Given the description of an element on the screen output the (x, y) to click on. 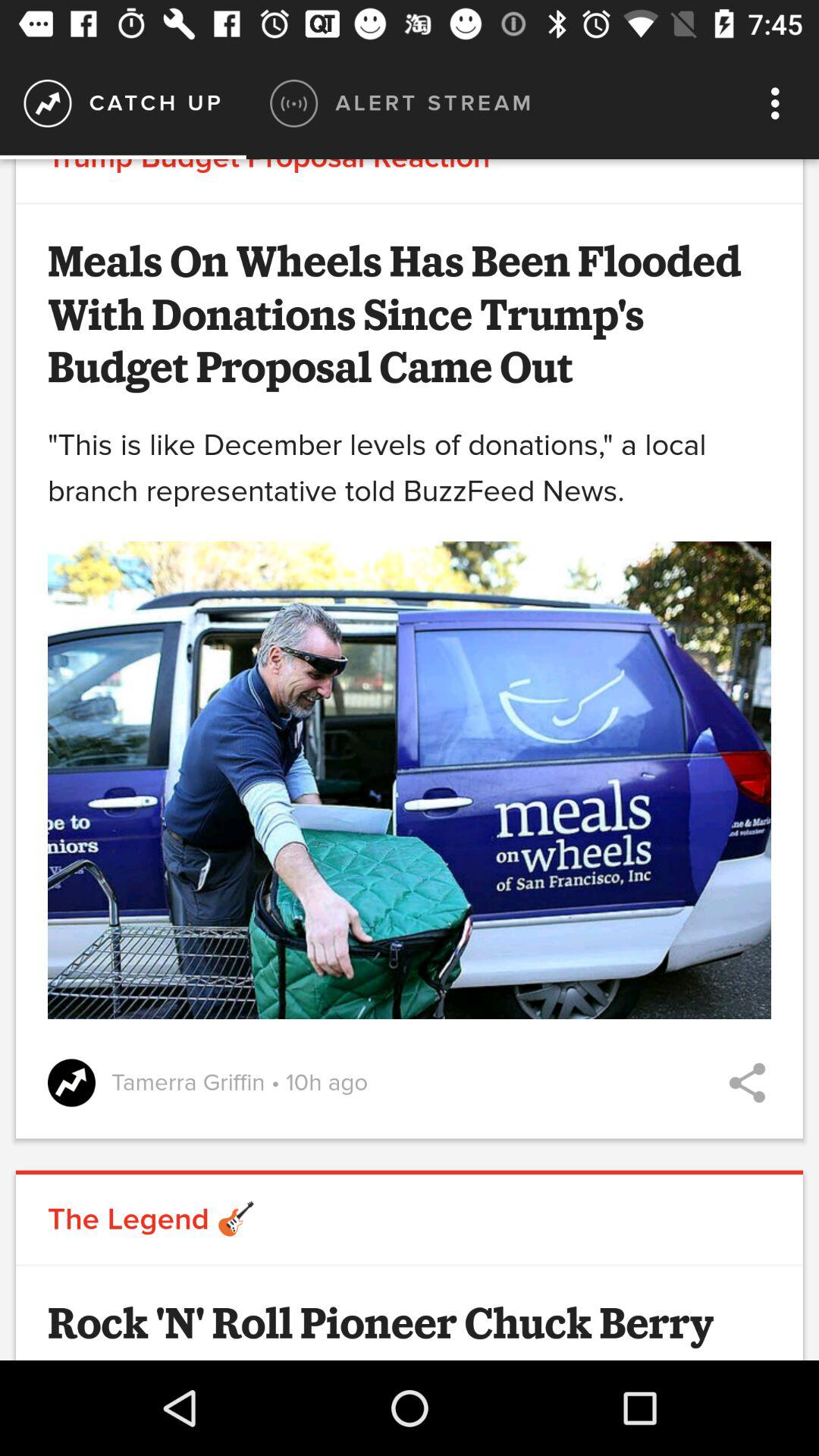
meals provided plenty with trump 's proposal (747, 1082)
